Given the description of an element on the screen output the (x, y) to click on. 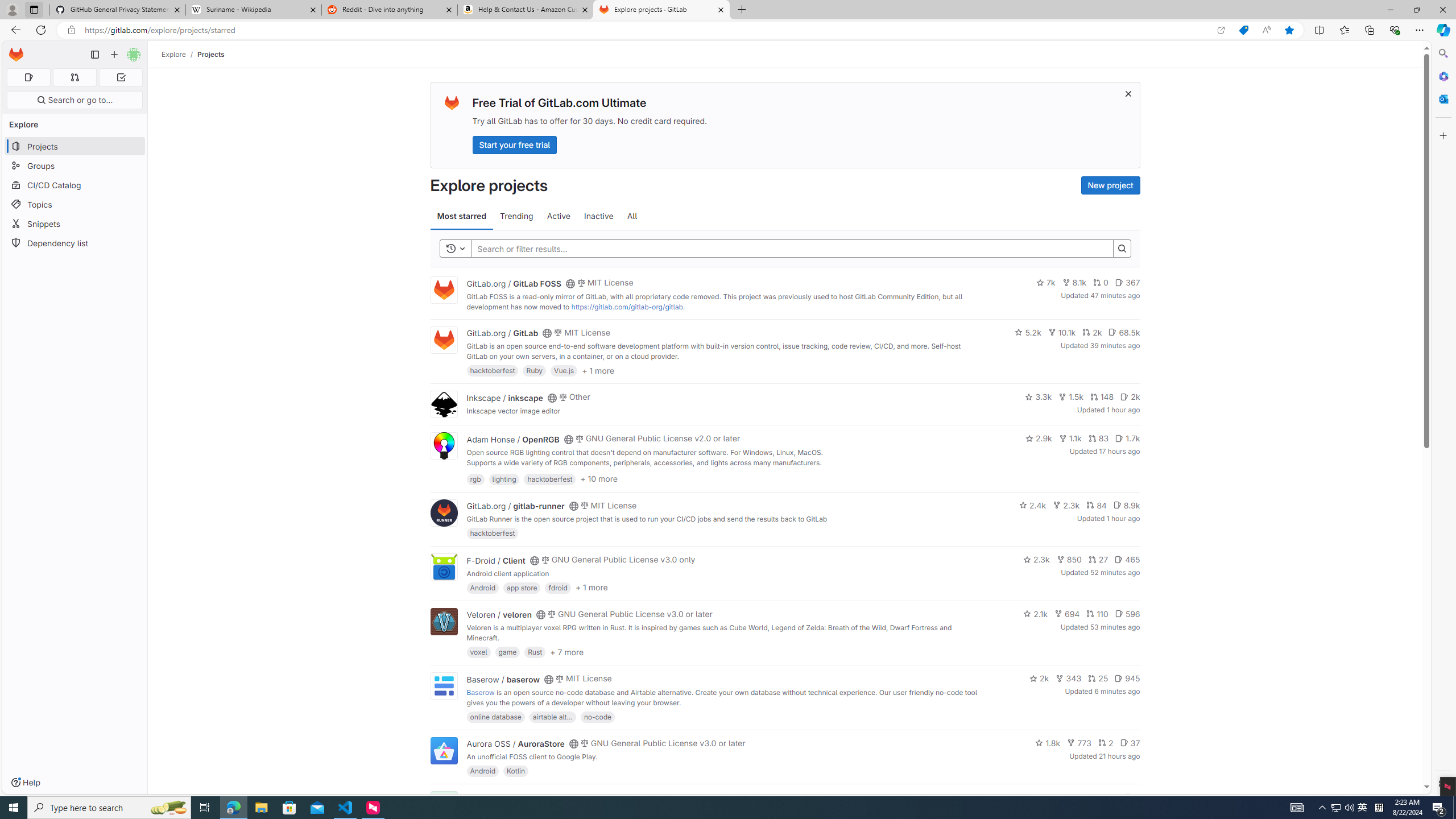
F-Droid / Client (495, 560)
110 (1097, 613)
Explore (173, 53)
Aurora OSS / AuroraStore (514, 743)
2.3k (1035, 559)
Dependency list (74, 242)
68.5k (1124, 331)
Class: s16 gl-icon gl-button-icon  (1127, 93)
1.5k (1070, 396)
Rust (535, 651)
Class: s14 gl-mr-2 (1128, 796)
